Given the description of an element on the screen output the (x, y) to click on. 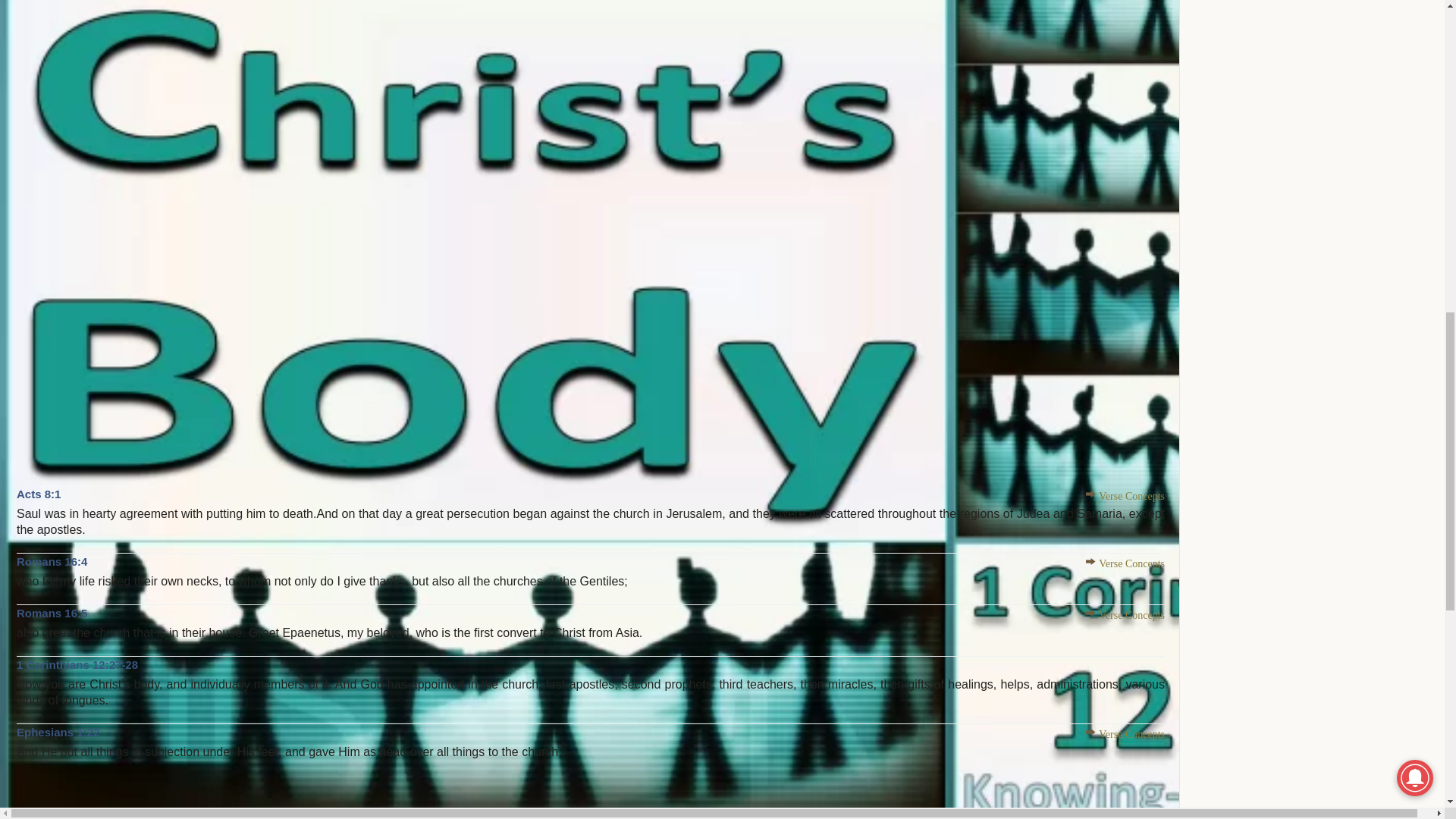
Acts 8:1 Verse Concepts (1125, 496)
Romans 16:5 Verse Concepts (1125, 614)
Romans 16:4 Verse Concepts (1125, 563)
Ephesians 1:22 Verse Concepts (1125, 734)
